Given the description of an element on the screen output the (x, y) to click on. 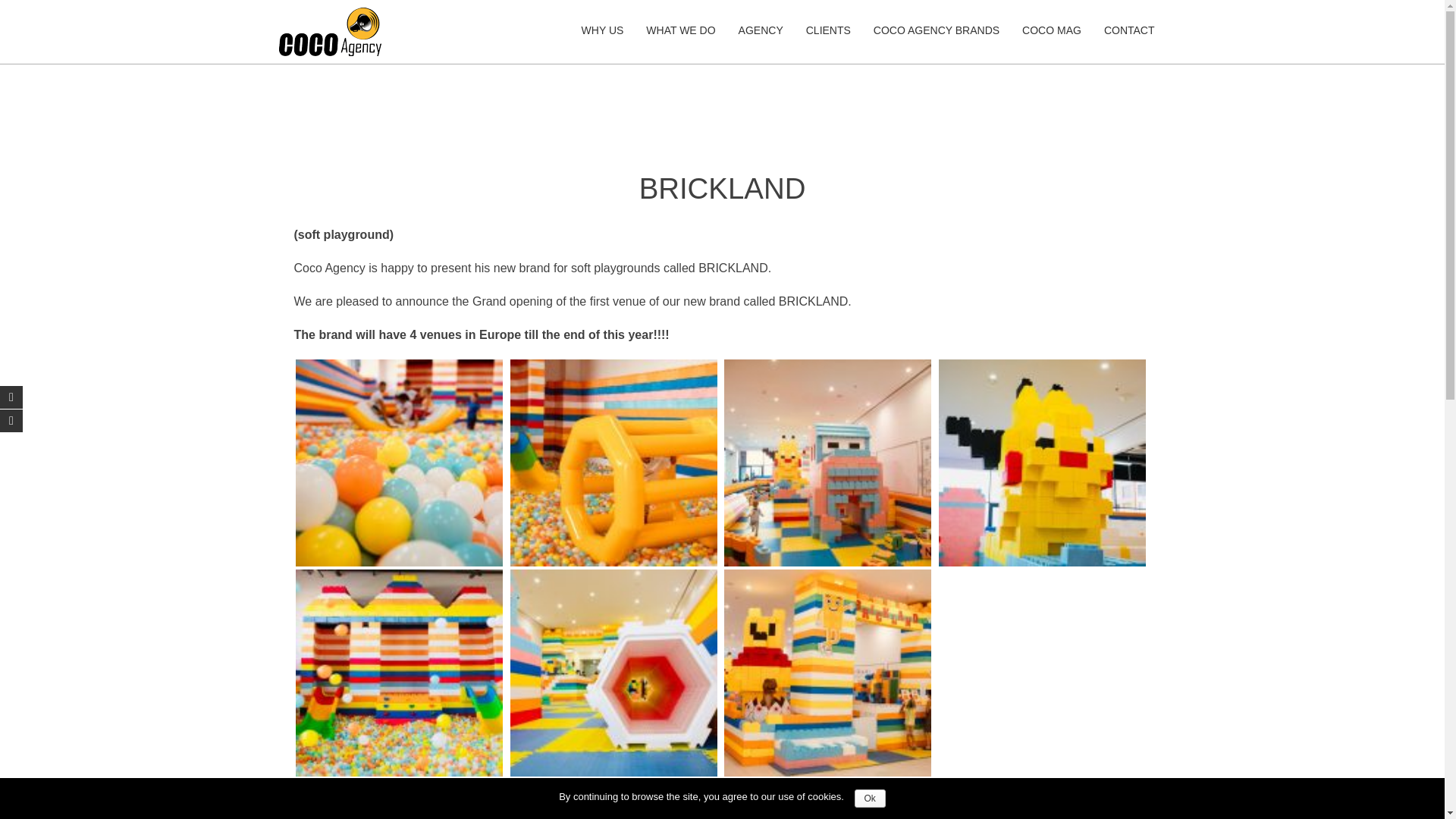
CLIENTS (827, 30)
Clients and Partners (827, 30)
CONTACT (1129, 30)
COCO MAG (1051, 30)
WHAT WE DO (680, 30)
COCO MAG (1051, 30)
AGENCY (760, 30)
WHY US (602, 30)
COCO AGENCY BRANDS (935, 30)
Ok (869, 798)
We do the BEEP! (680, 30)
